Given the description of an element on the screen output the (x, y) to click on. 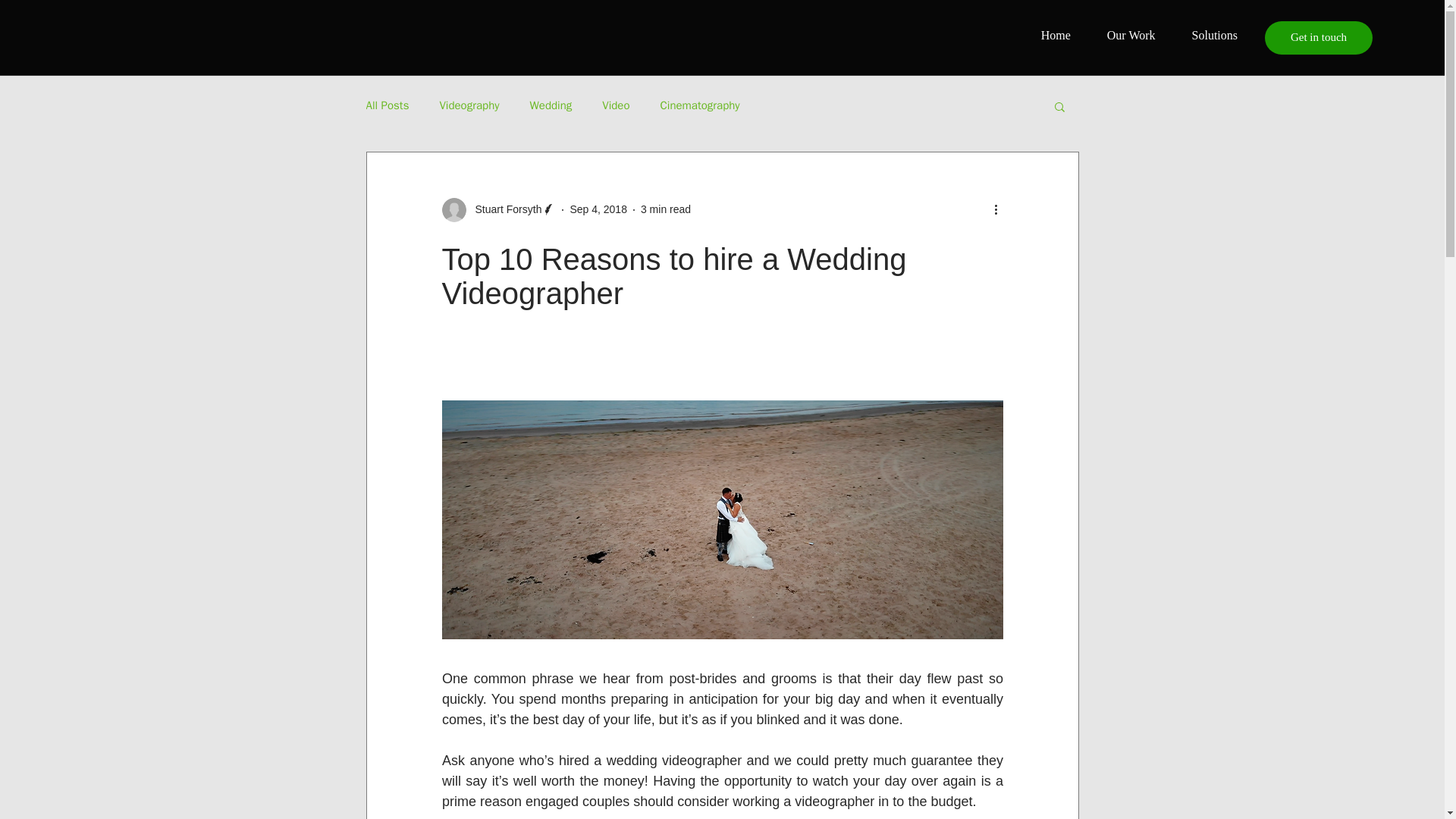
Video (615, 105)
Sep 4, 2018 (598, 209)
3 min read (665, 209)
All Posts (387, 105)
Stuart Forsyth (498, 209)
Home (1056, 35)
Cinematography (700, 105)
Videography (469, 105)
Get in touch (1319, 37)
Stuart Forsyth (503, 209)
